Given the description of an element on the screen output the (x, y) to click on. 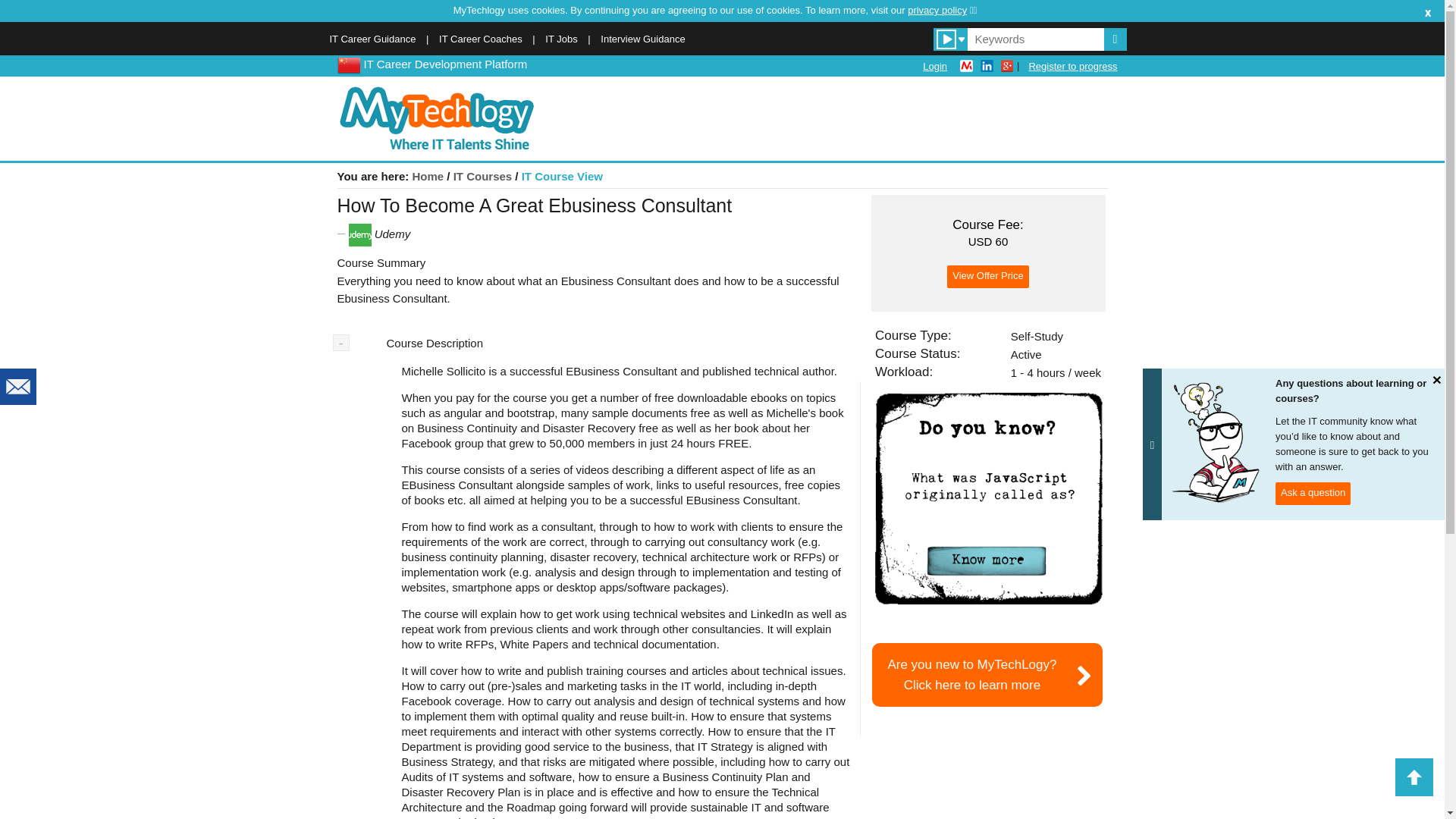
privacy policy  (941, 9)
Login (935, 66)
China (347, 63)
Do you know what was JavaScript originally called as? (988, 498)
Register to progress (1071, 66)
View Offer Price (987, 276)
IT Career Coaches (987, 674)
Interview Guidance (480, 39)
IT Career Guidance (641, 39)
